Given the description of an element on the screen output the (x, y) to click on. 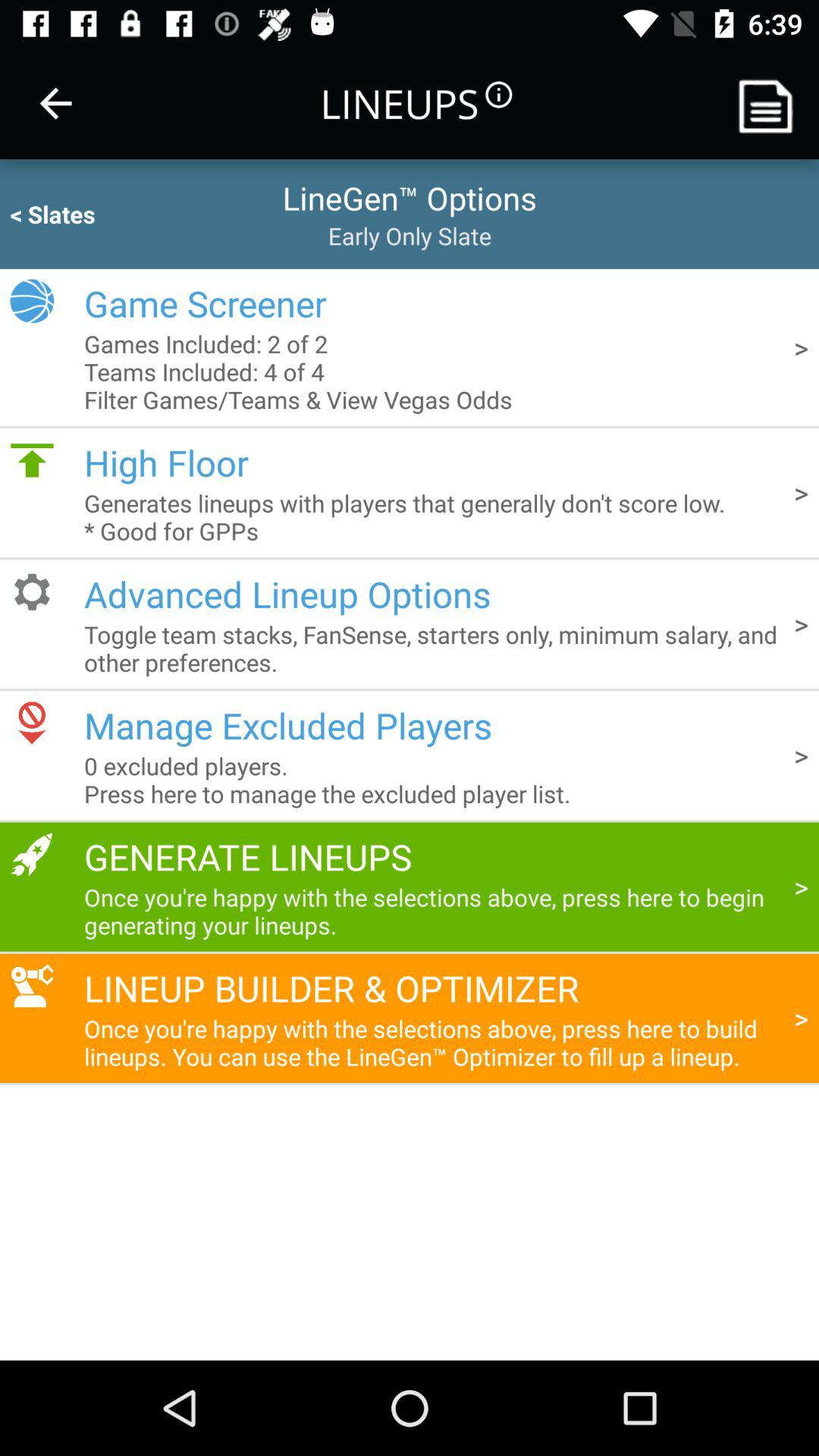
select icon to the left of the lineups icon (55, 103)
